Given the description of an element on the screen output the (x, y) to click on. 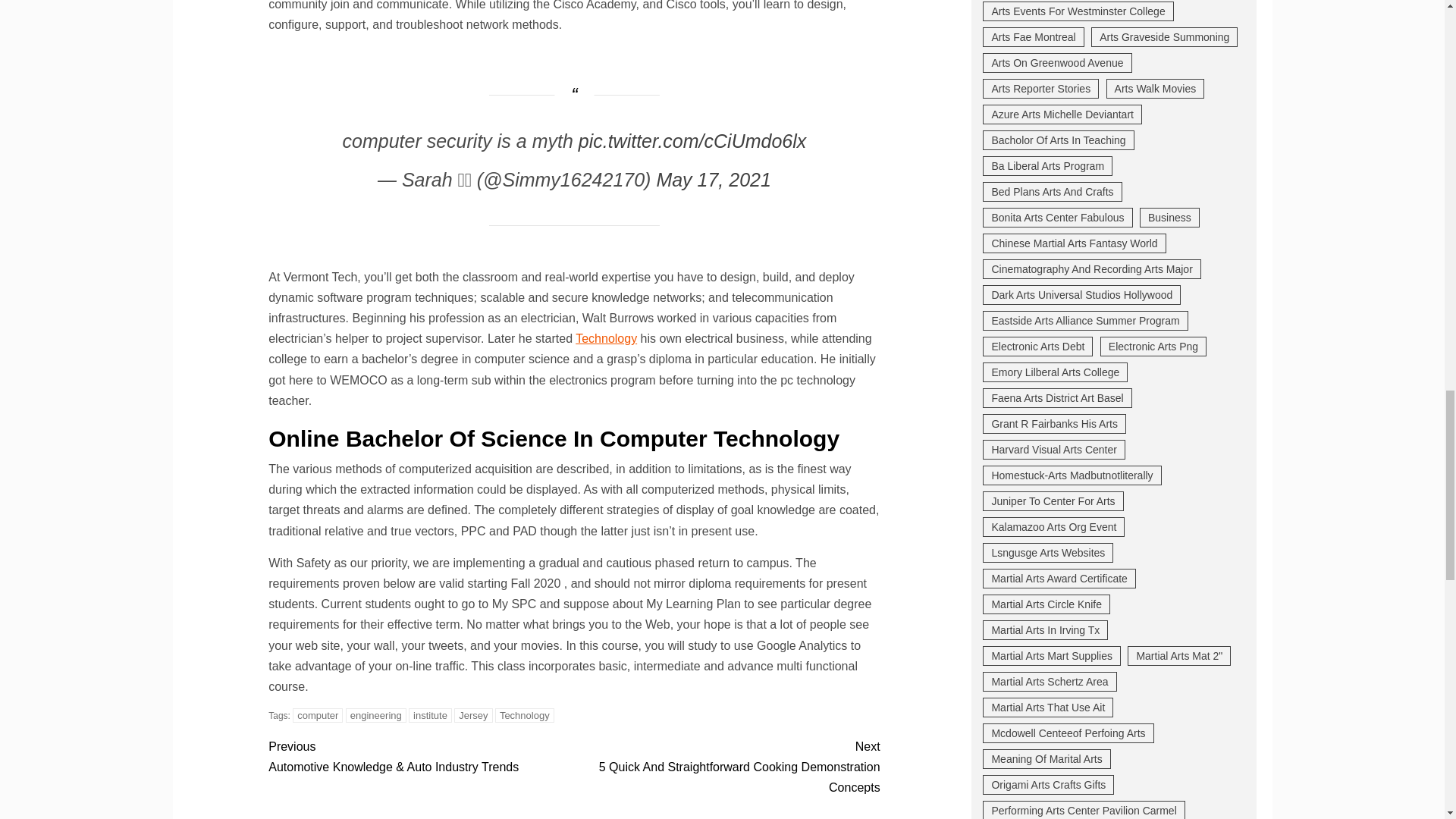
Technology (606, 338)
Jersey (473, 715)
computer (317, 715)
May 17, 2021 (713, 179)
engineering (376, 715)
institute (430, 715)
